Given the description of an element on the screen output the (x, y) to click on. 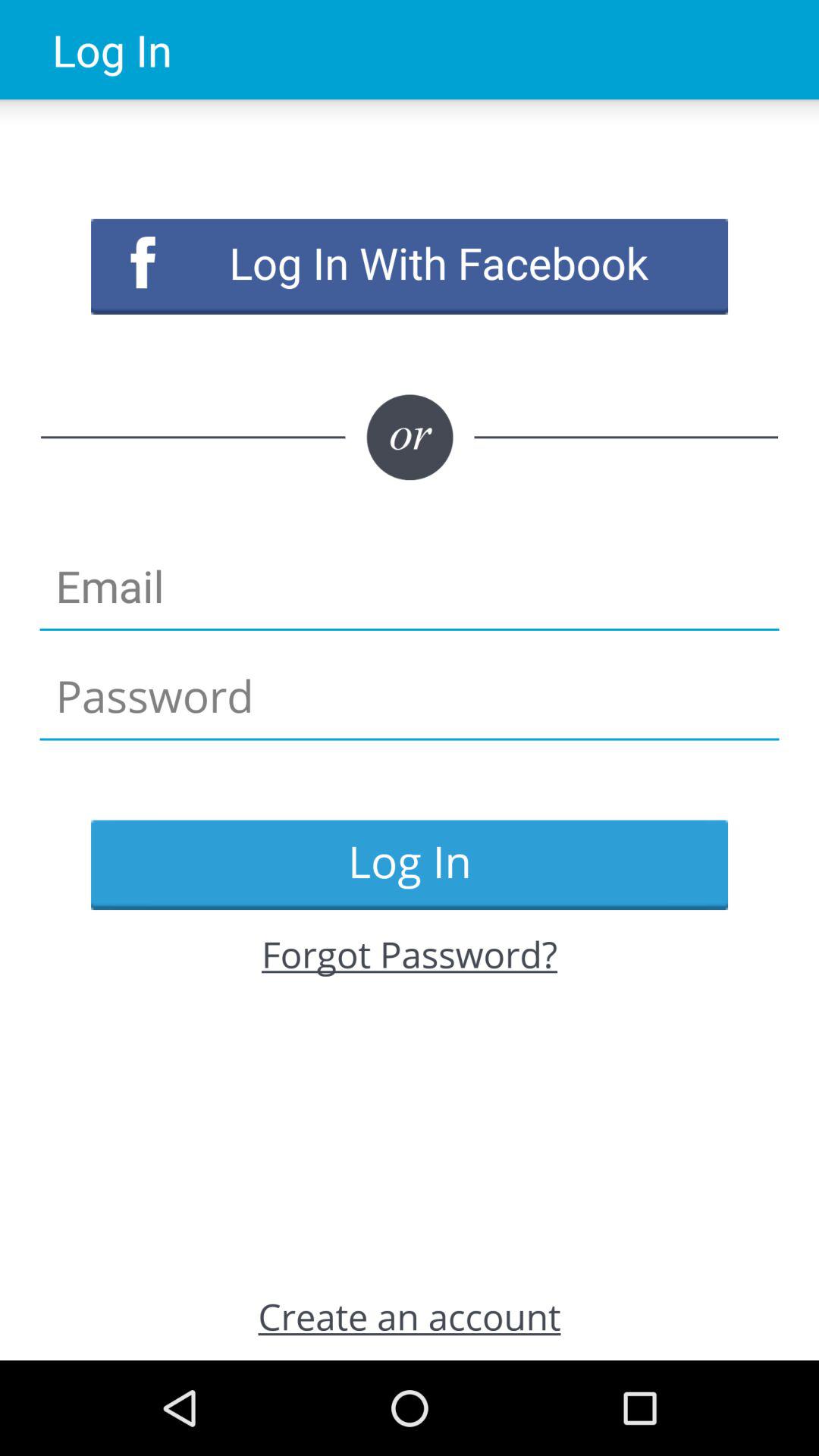
press create an account (409, 1316)
